Given the description of an element on the screen output the (x, y) to click on. 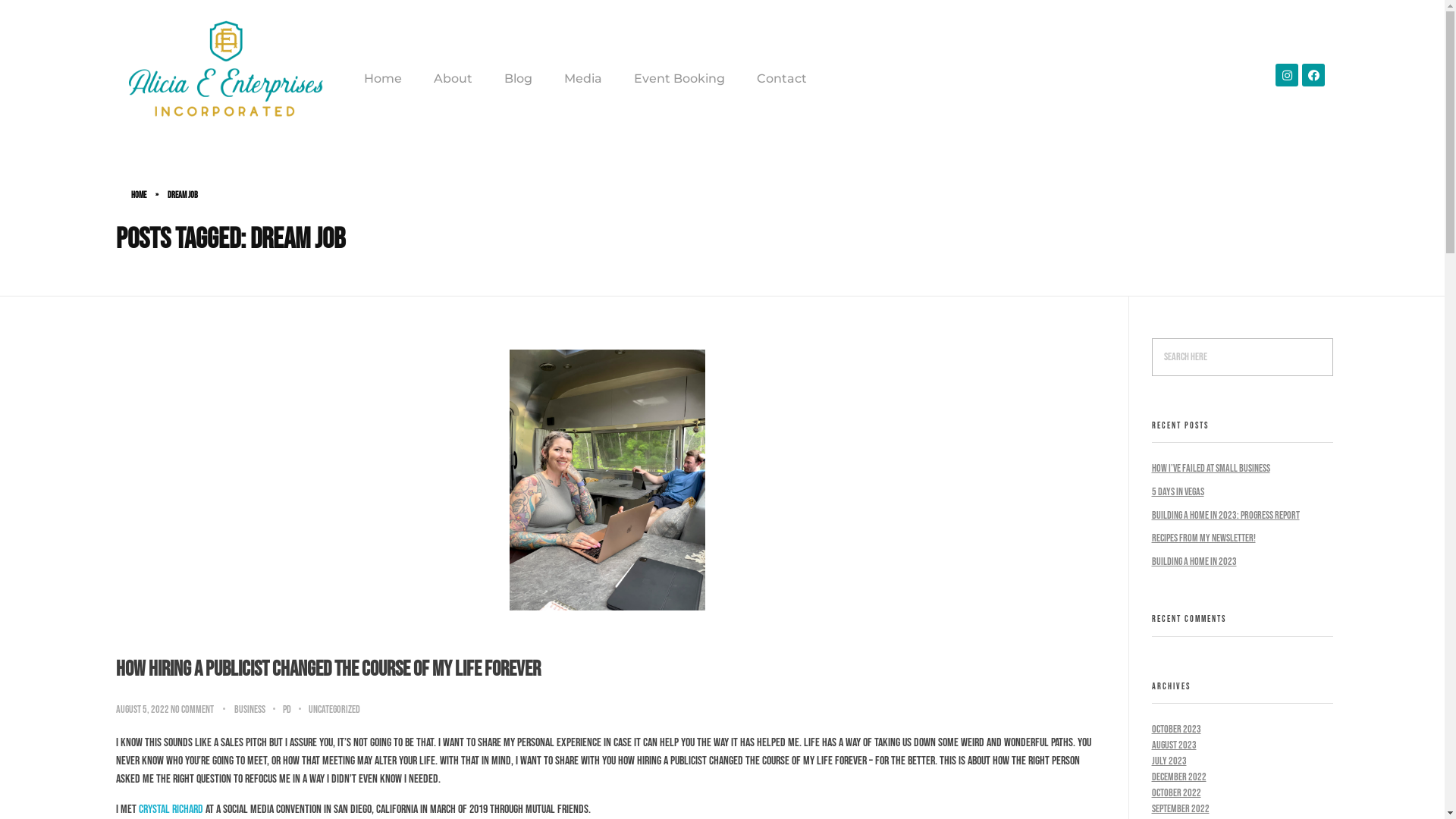
Building A Home in 2023: Progress Report Element type: text (1225, 514)
July 2023 Element type: text (1168, 760)
October 2023 Element type: text (1175, 728)
Home Element type: text (390, 78)
Contact Element type: text (773, 78)
October 2022 Element type: text (1175, 792)
Search Element type: text (33, 13)
Home Element type: text (137, 194)
Event Booking Element type: text (679, 78)
Alicia Simms Element type: hover (225, 72)
December 2022 Element type: text (1178, 776)
How Hiring A Publicist Changed The Course Of My Life Forever Element type: text (327, 668)
September 2022 Element type: text (1179, 808)
Building A Home in 2023 Element type: text (1193, 561)
5 Days In Vegas Element type: text (1177, 491)
About Element type: text (452, 78)
Alicia Simms Element type: text (171, 141)
Crystal Richard Element type: text (171, 809)
Media Element type: text (583, 78)
Blog Element type: text (518, 78)
August 2023 Element type: text (1173, 744)
No Comment Element type: text (191, 708)
Recipes From My Newsletter! Element type: text (1203, 537)
August 5, 2022 Element type: text (142, 708)
Uncategorized Element type: text (333, 709)
Business Element type: text (257, 709)
PD Element type: text (294, 709)
